Given the description of an element on the screen output the (x, y) to click on. 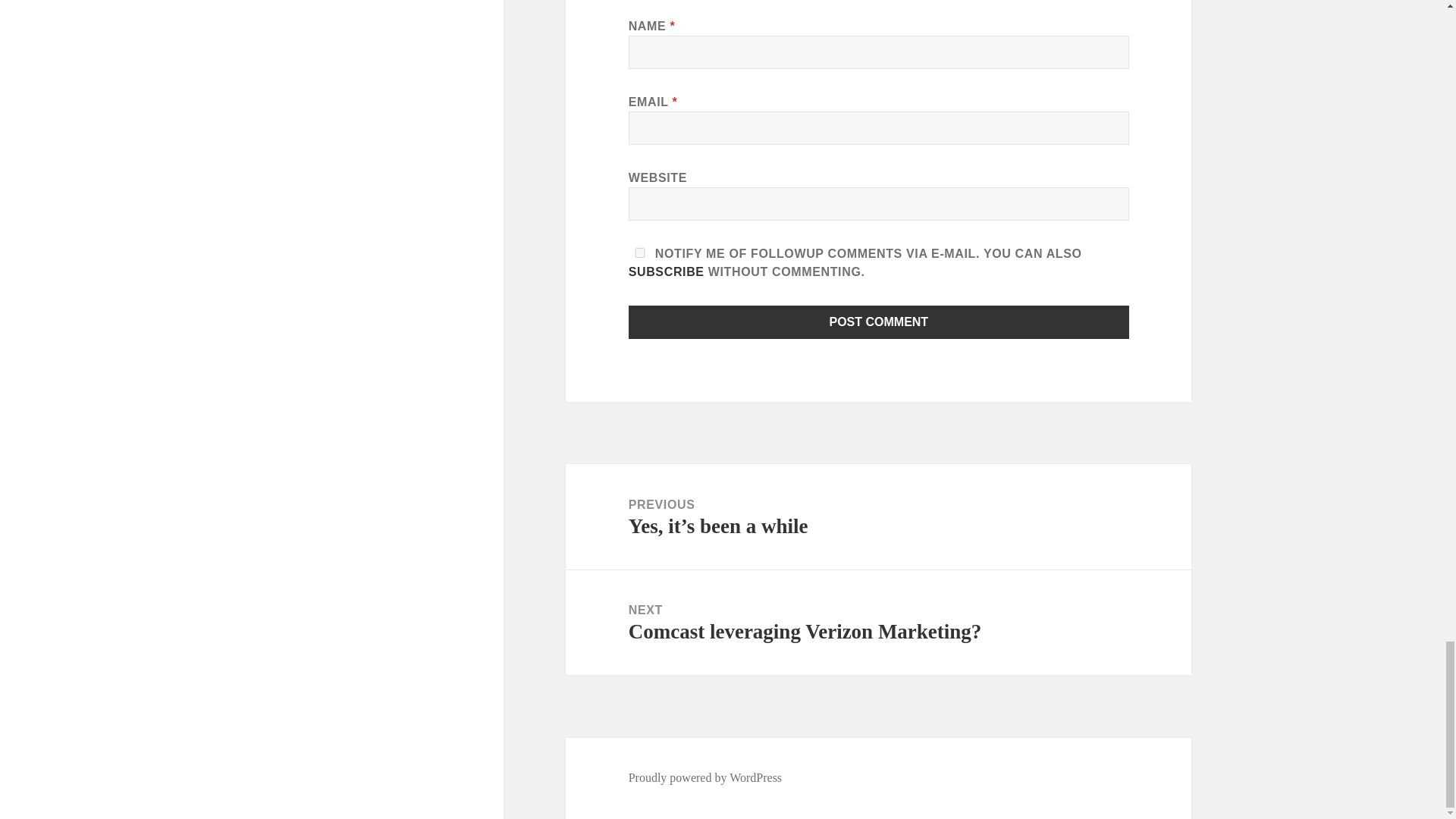
yes (639, 252)
SUBSCRIBE (666, 271)
Post Comment (878, 322)
Post Comment (878, 322)
Proudly powered by WordPress (878, 622)
